Given the description of an element on the screen output the (x, y) to click on. 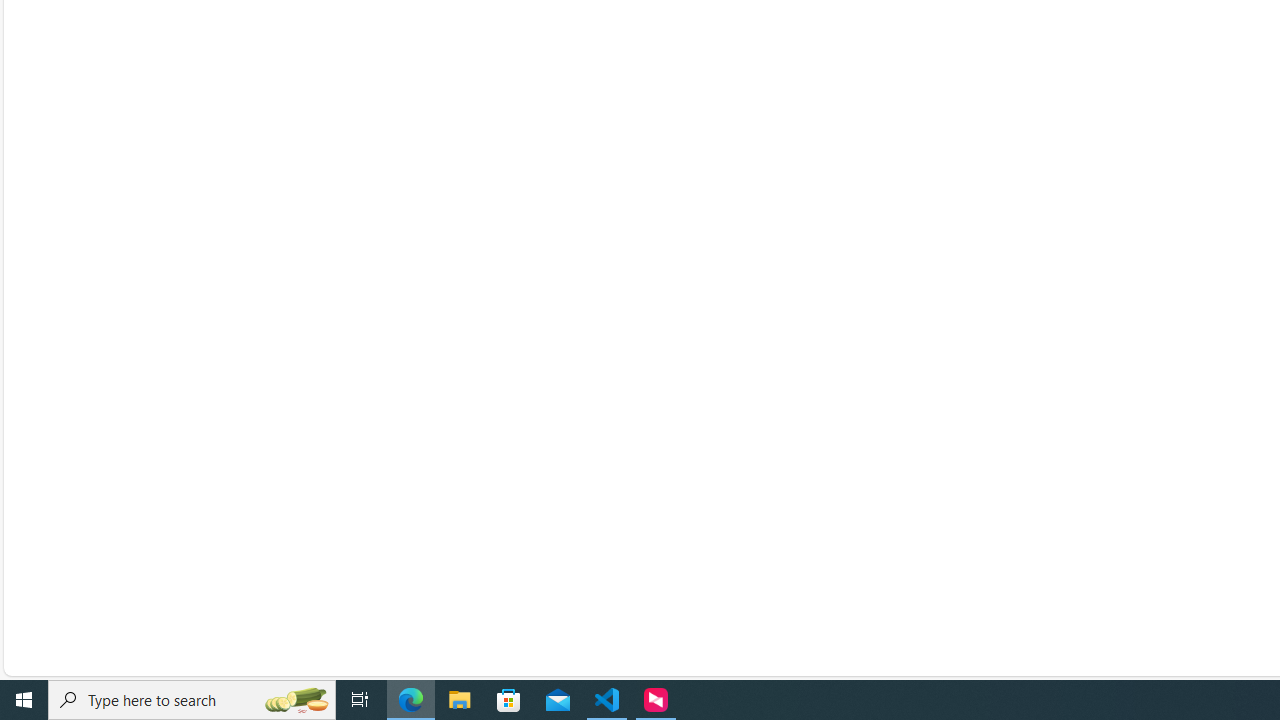
Help (45, 655)
